Given the description of an element on the screen output the (x, y) to click on. 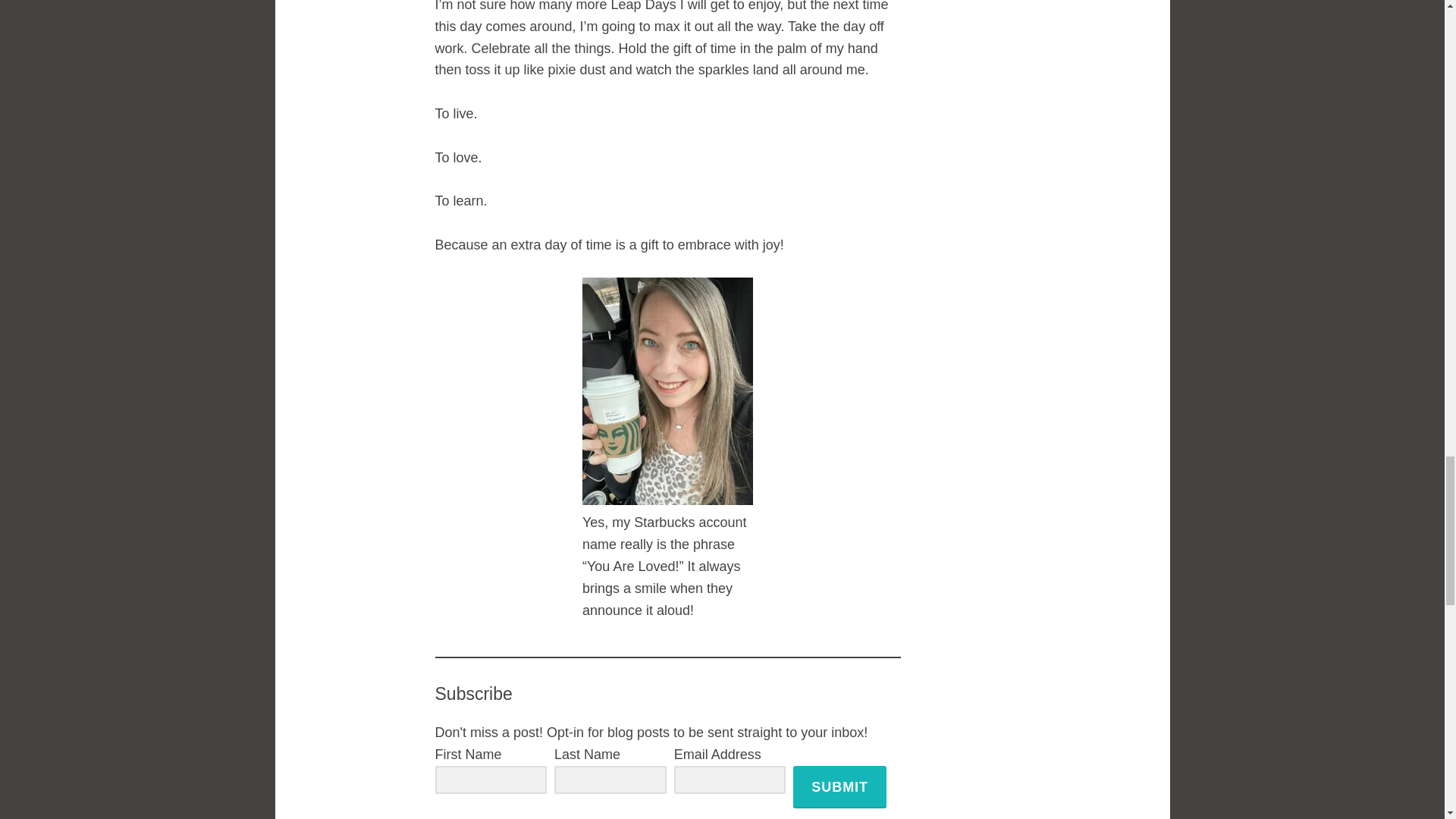
SUBMIT (839, 786)
